Given the description of an element on the screen output the (x, y) to click on. 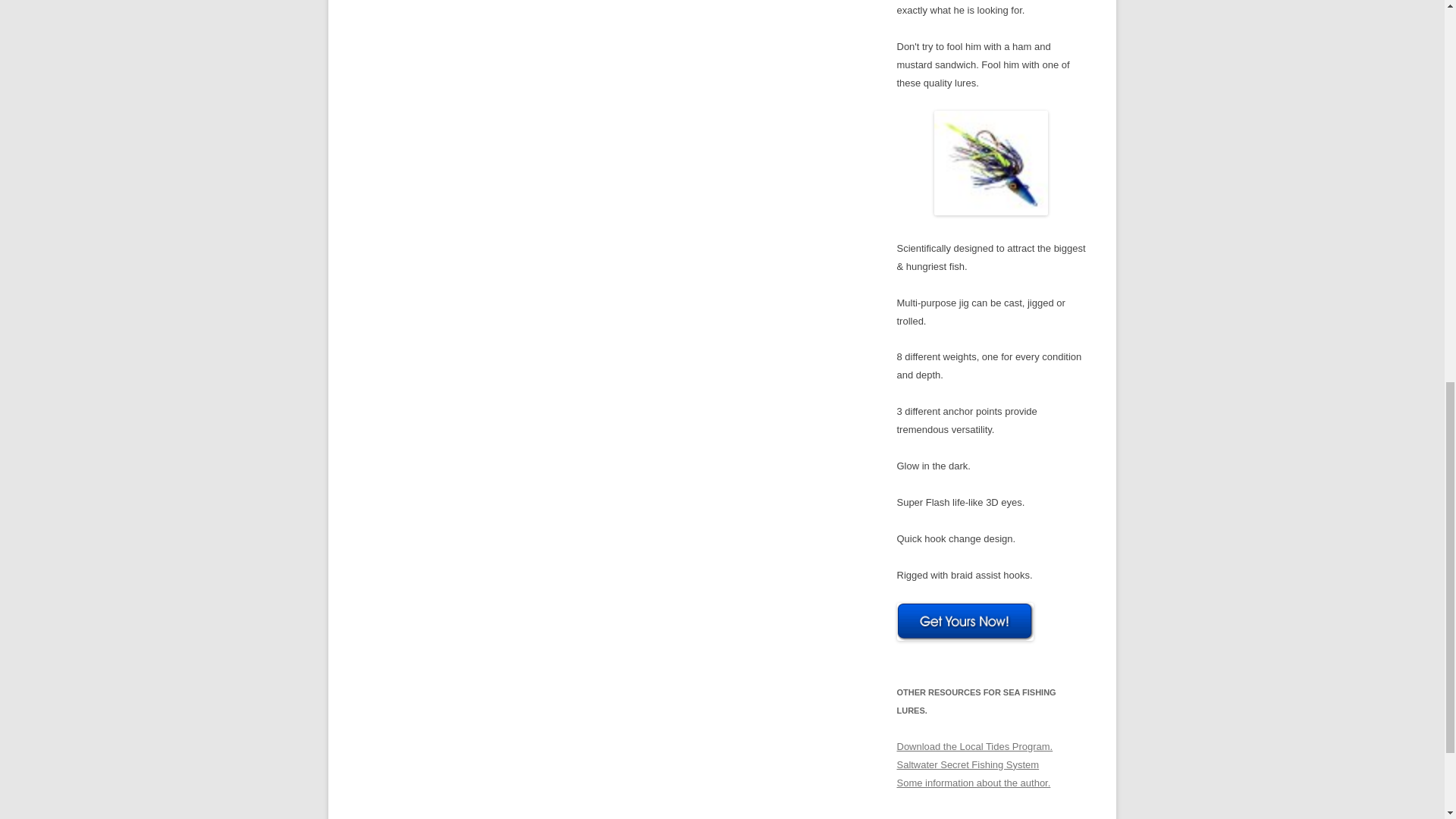
Download the Local Tides Program. (974, 746)
Saltwater Secret Fishing System (967, 764)
Some information about the author. (972, 782)
